Given the description of an element on the screen output the (x, y) to click on. 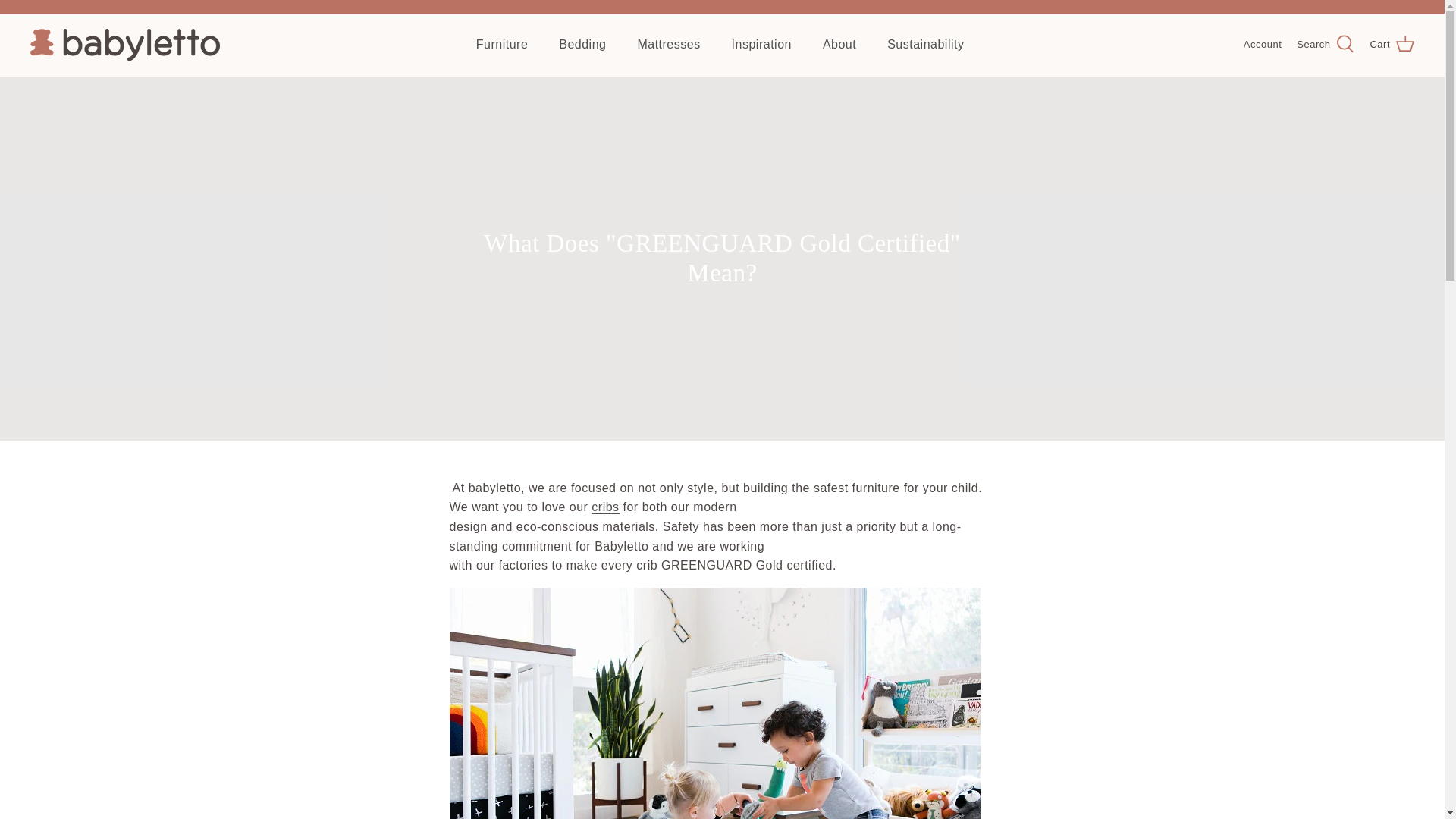
Mattresses (668, 44)
Sustainability (924, 44)
Cart (1391, 44)
About (839, 44)
Bedding (582, 44)
Search (1325, 44)
Account (1262, 44)
cribs (604, 507)
Babyletto (124, 44)
Furniture (502, 44)
Inspiration (761, 44)
